Given the description of an element on the screen output the (x, y) to click on. 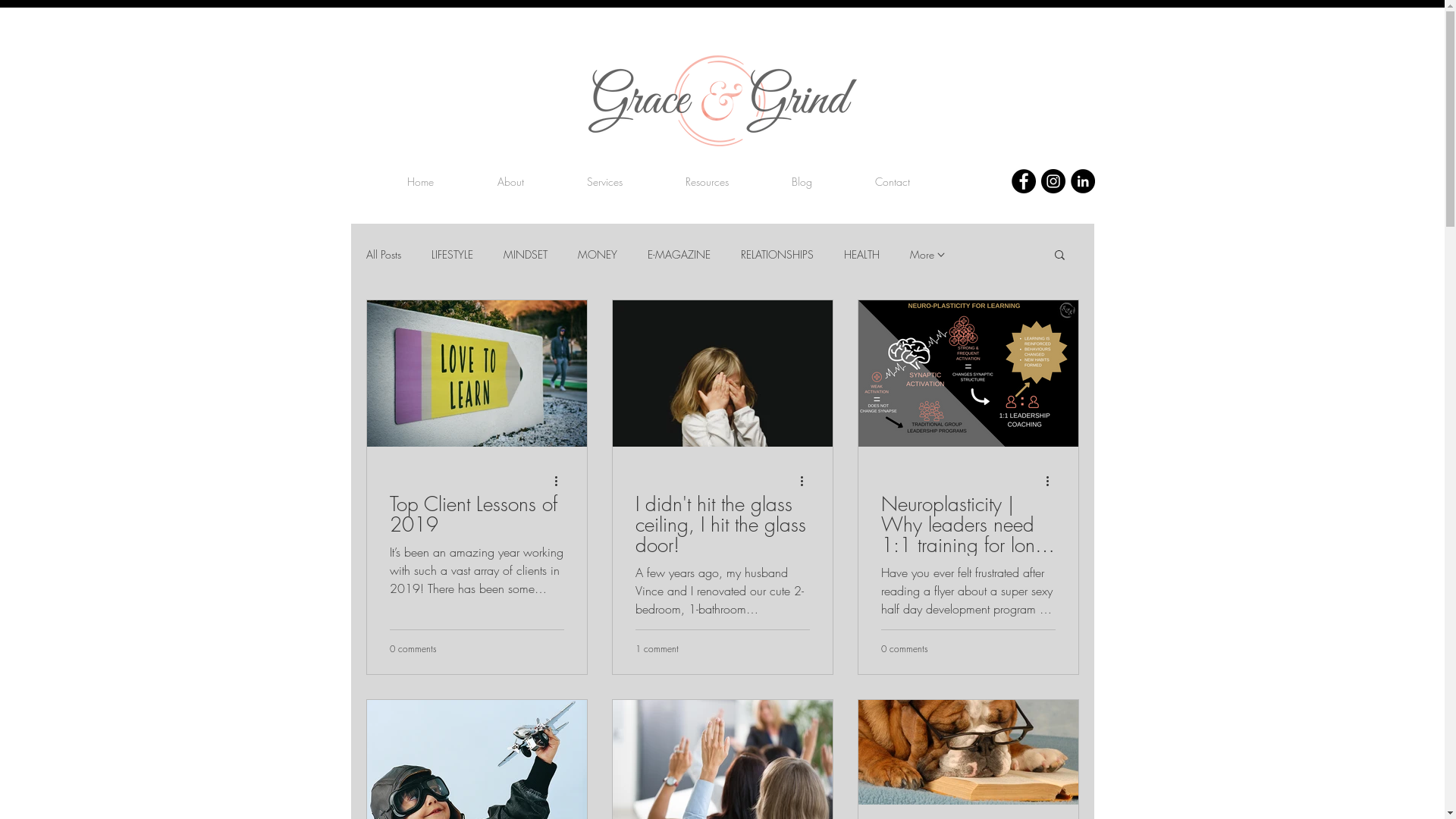
E-MAGAZINE Element type: text (678, 254)
RELATIONSHIPS Element type: text (776, 254)
Services Element type: text (604, 181)
All Posts Element type: text (382, 254)
Resources Element type: text (707, 181)
MINDSET Element type: text (525, 254)
Top Client Lessons of 2019 Element type: text (476, 514)
MONEY Element type: text (597, 254)
0 comments Element type: text (412, 647)
Blog Element type: text (802, 181)
LIFESTYLE Element type: text (451, 254)
I didn't hit the glass ceiling, I hit the glass door! Element type: text (722, 524)
HEALTH Element type: text (860, 254)
0 comments Element type: text (904, 647)
Home Element type: text (420, 181)
About Element type: text (509, 181)
1 comment Element type: text (656, 647)
Contact Element type: text (892, 181)
